Given the description of an element on the screen output the (x, y) to click on. 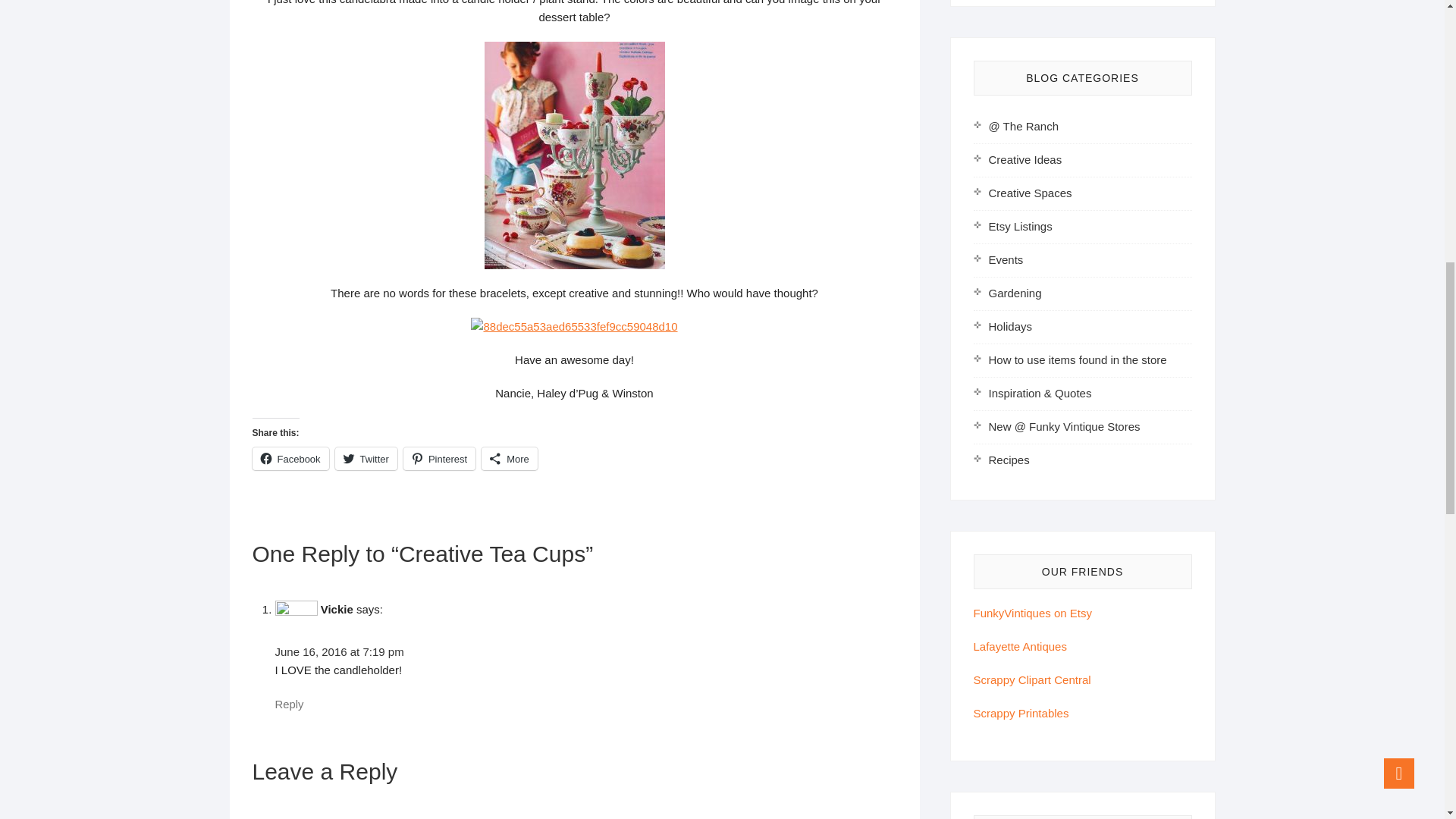
Click to share on Facebook (290, 458)
Click to share on Pinterest (439, 458)
Click to share on Twitter (365, 458)
